Given the description of an element on the screen output the (x, y) to click on. 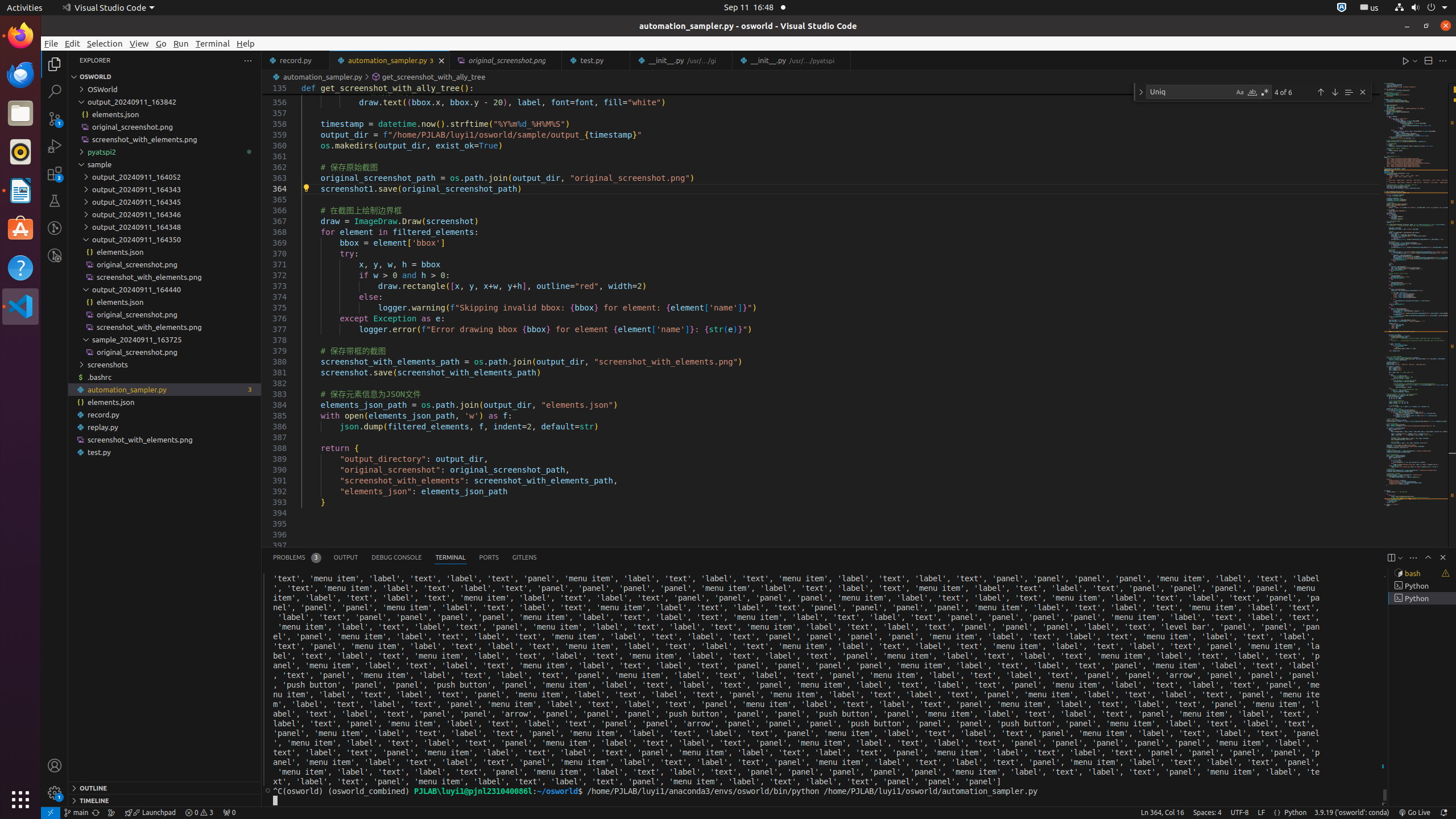
More Actions... Element type: push-button (1442, 60)
Show Code Actions (Ctrl+.) Element type: list-box (305, 187)
record.py Element type: page-tab (295, 60)
Next Match (Enter) Element type: push-button (1334, 91)
